Given the description of an element on the screen output the (x, y) to click on. 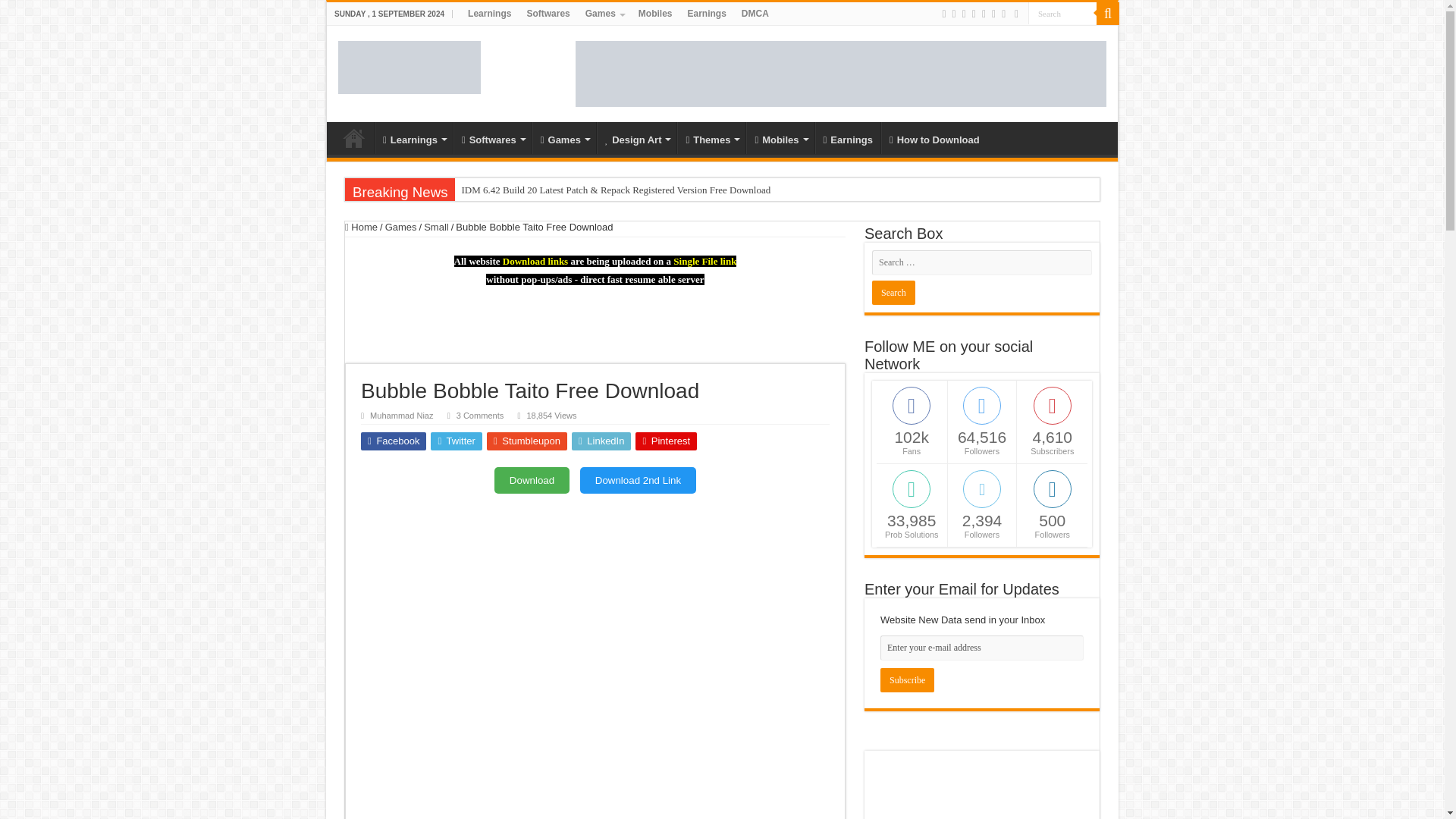
Learnings (489, 13)
Earnings (706, 13)
Learnings (413, 137)
Search (1061, 13)
Search (1061, 13)
Search (1061, 13)
Mobiles (654, 13)
Search (1107, 13)
Home (354, 137)
Search (893, 292)
